Given the description of an element on the screen output the (x, y) to click on. 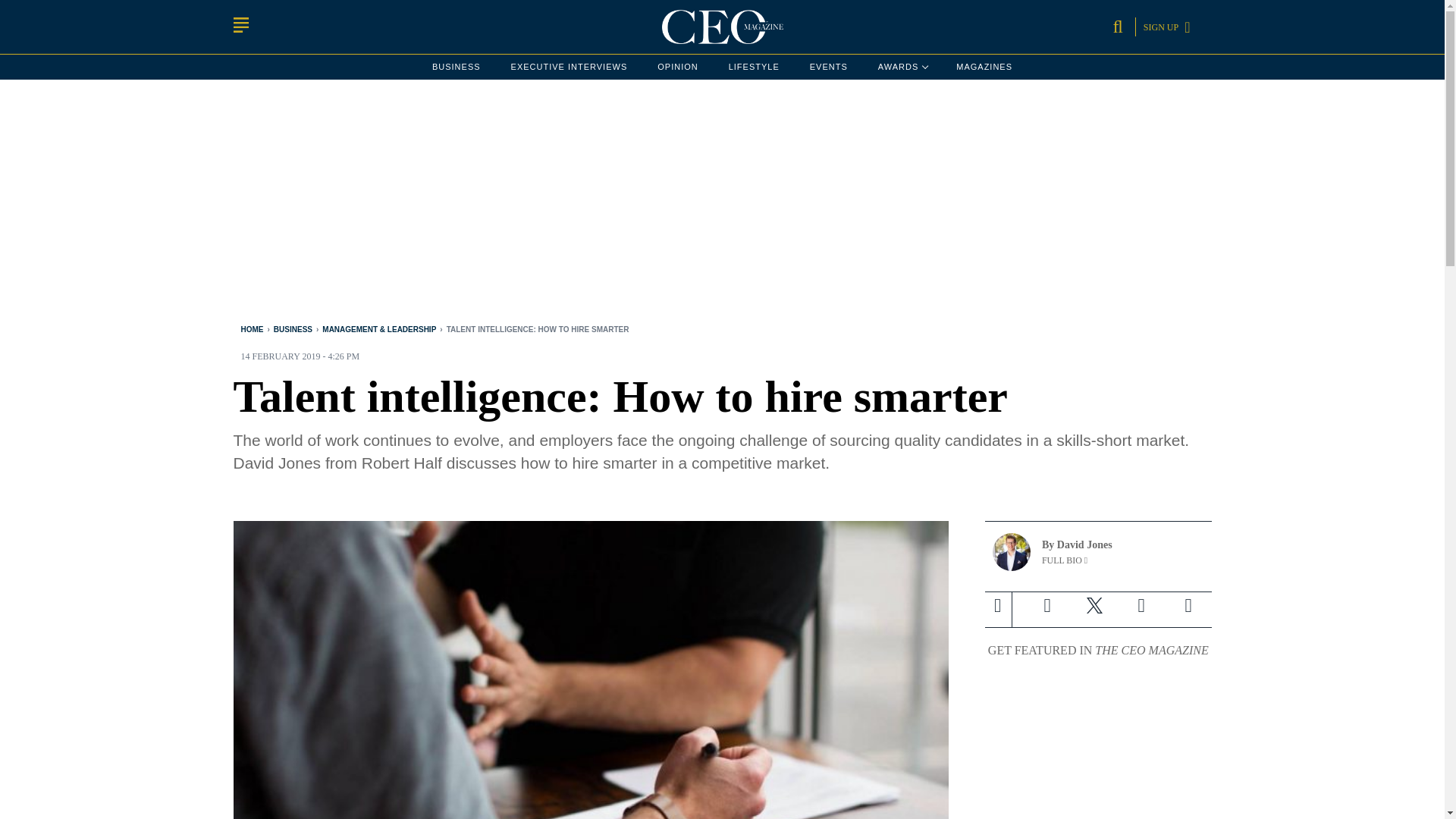
EXECUTIVE INTERVIEWS (569, 67)
Sign-up (1188, 605)
Opinion (677, 67)
Executive Interviews (569, 67)
GET FEATURED IN THE CEO MAGAZINE (1098, 650)
MAGAZINES (983, 67)
Subscribe (901, 67)
EVENTS (1187, 605)
Share to Linkedin (828, 67)
